Given the description of an element on the screen output the (x, y) to click on. 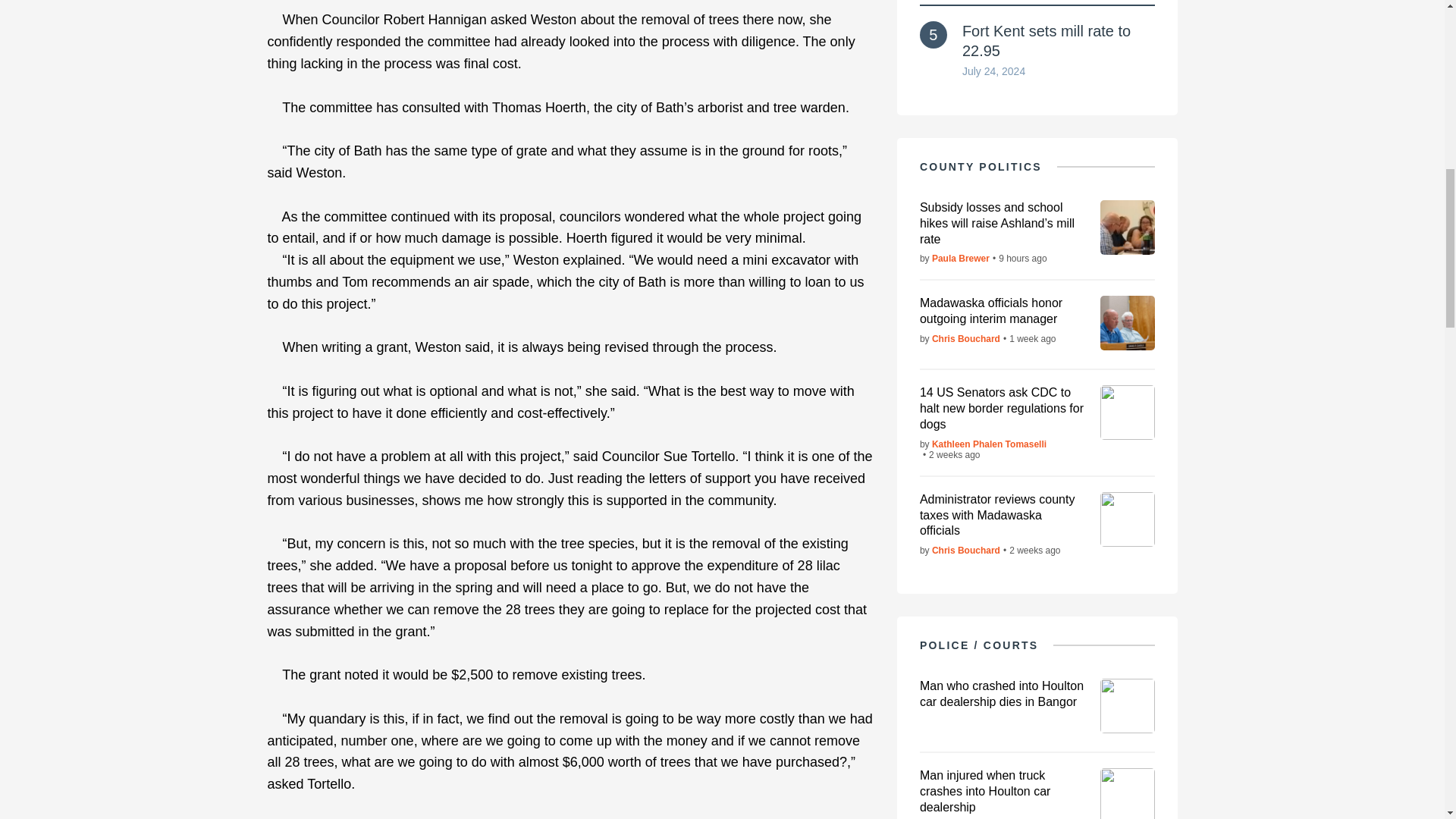
Posts by Chris Bouchard (965, 338)
Posts by Chris Bouchard (965, 550)
Posts by Kathleen Phalen Tomaselli (988, 443)
Posts by Paula Brewer (960, 258)
